Given the description of an element on the screen output the (x, y) to click on. 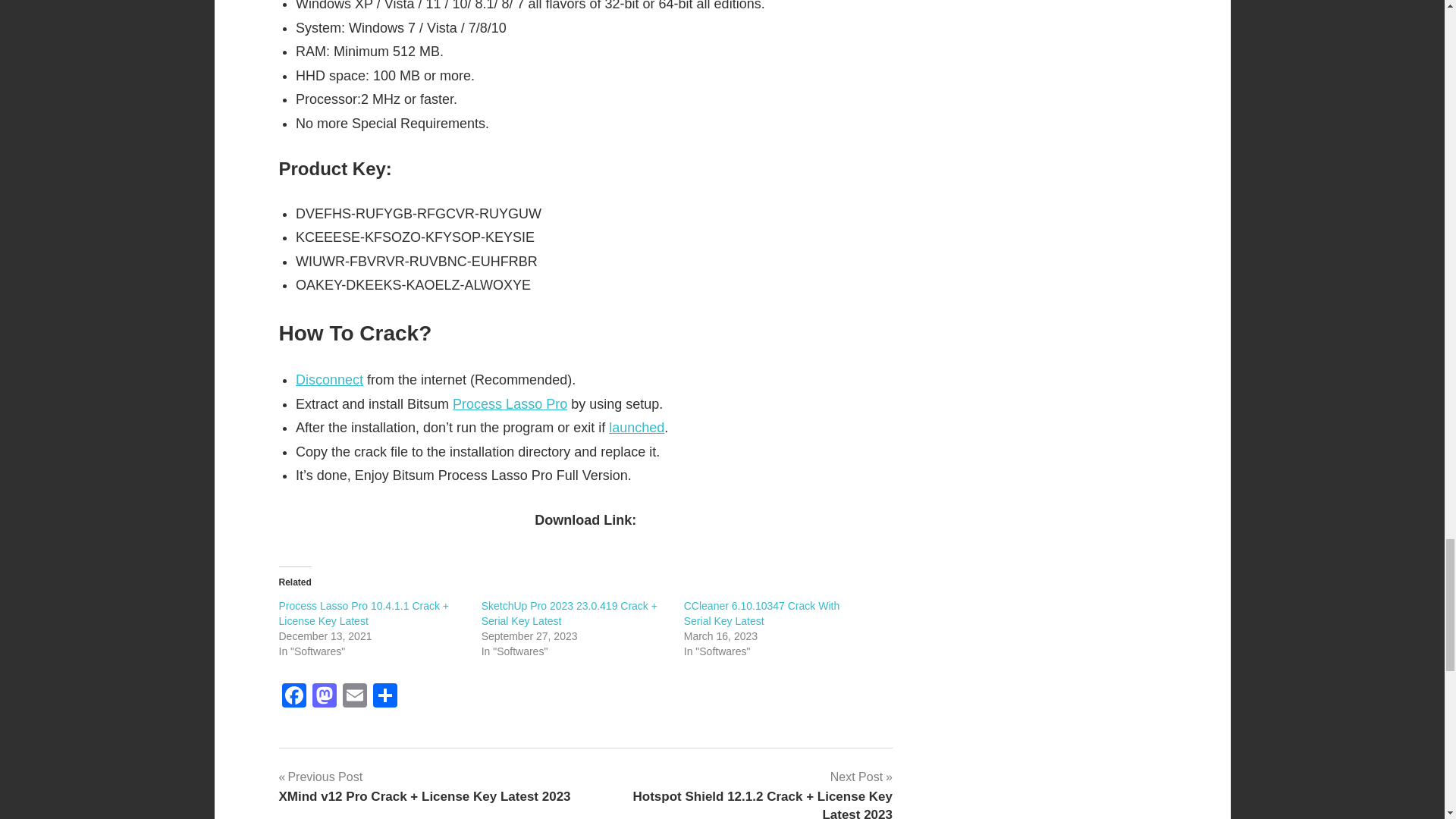
Facebook (293, 697)
Mastodon (323, 697)
Email (354, 697)
CCleaner 6.10.10347 Crack With Serial Key Latest (762, 613)
Facebook (293, 697)
Email (354, 697)
Mastodon (323, 697)
launched (635, 427)
Disconnect (328, 379)
Process Lasso Pro (509, 403)
CCleaner 6.10.10347 Crack With Serial Key Latest (762, 613)
Share (384, 697)
